Given the description of an element on the screen output the (x, y) to click on. 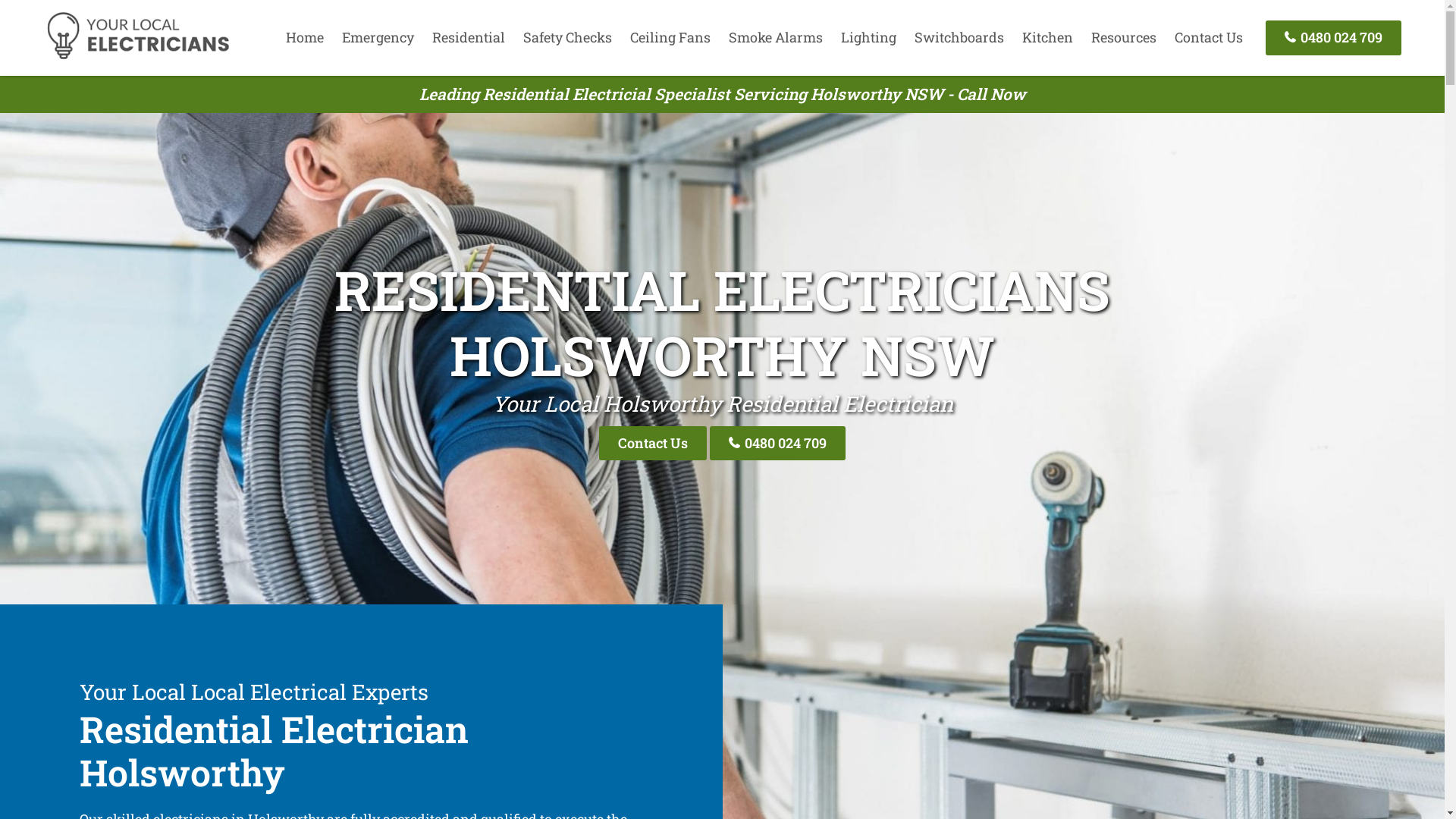
Residential Element type: text (468, 37)
Ceiling Fans Element type: text (670, 37)
Emergency Element type: text (377, 37)
Home Element type: text (304, 37)
Safety Checks Element type: text (567, 37)
Resources Element type: text (1123, 37)
0480 024 709 Element type: text (1333, 37)
Contact Us Element type: text (1208, 37)
Electricians Element type: hover (137, 56)
Lighting Element type: text (868, 37)
Smoke Alarms Element type: text (775, 37)
Switchboards Element type: text (958, 37)
Kitchen Element type: text (1047, 37)
Contact Us Element type: text (652, 443)
0480 024 709 Element type: text (777, 443)
